Given the description of an element on the screen output the (x, y) to click on. 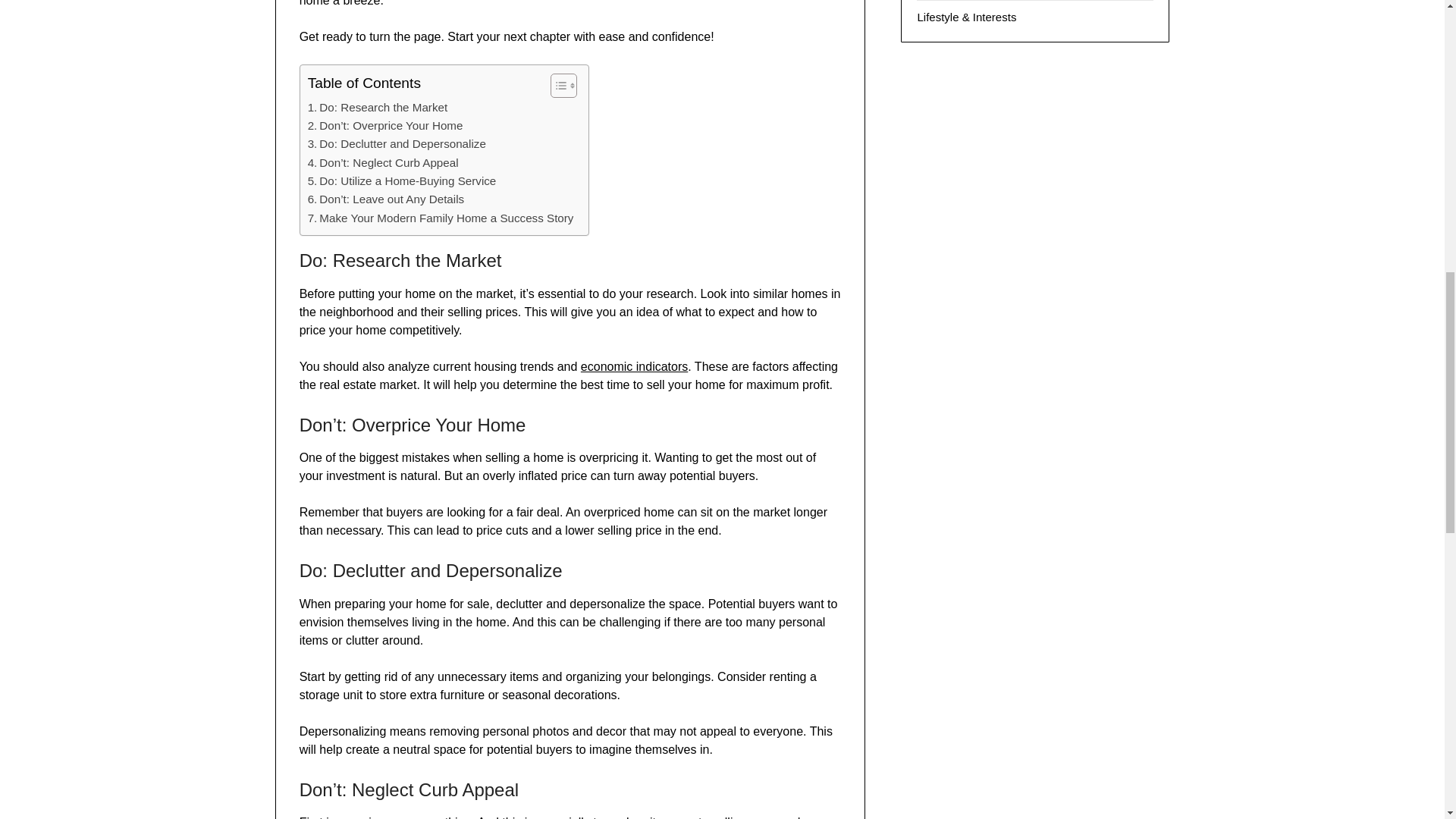
economic indicators (633, 366)
Make Your Modern Family Home a Success Story (440, 218)
Do: Utilize a Home-Buying Service (401, 180)
Do: Declutter and Depersonalize (396, 144)
Do: Research the Market (377, 107)
Make Your Modern Family Home a Success Story (440, 218)
Do: Utilize a Home-Buying Service (401, 180)
Do: Declutter and Depersonalize (396, 144)
Do: Research the Market (377, 107)
